Given the description of an element on the screen output the (x, y) to click on. 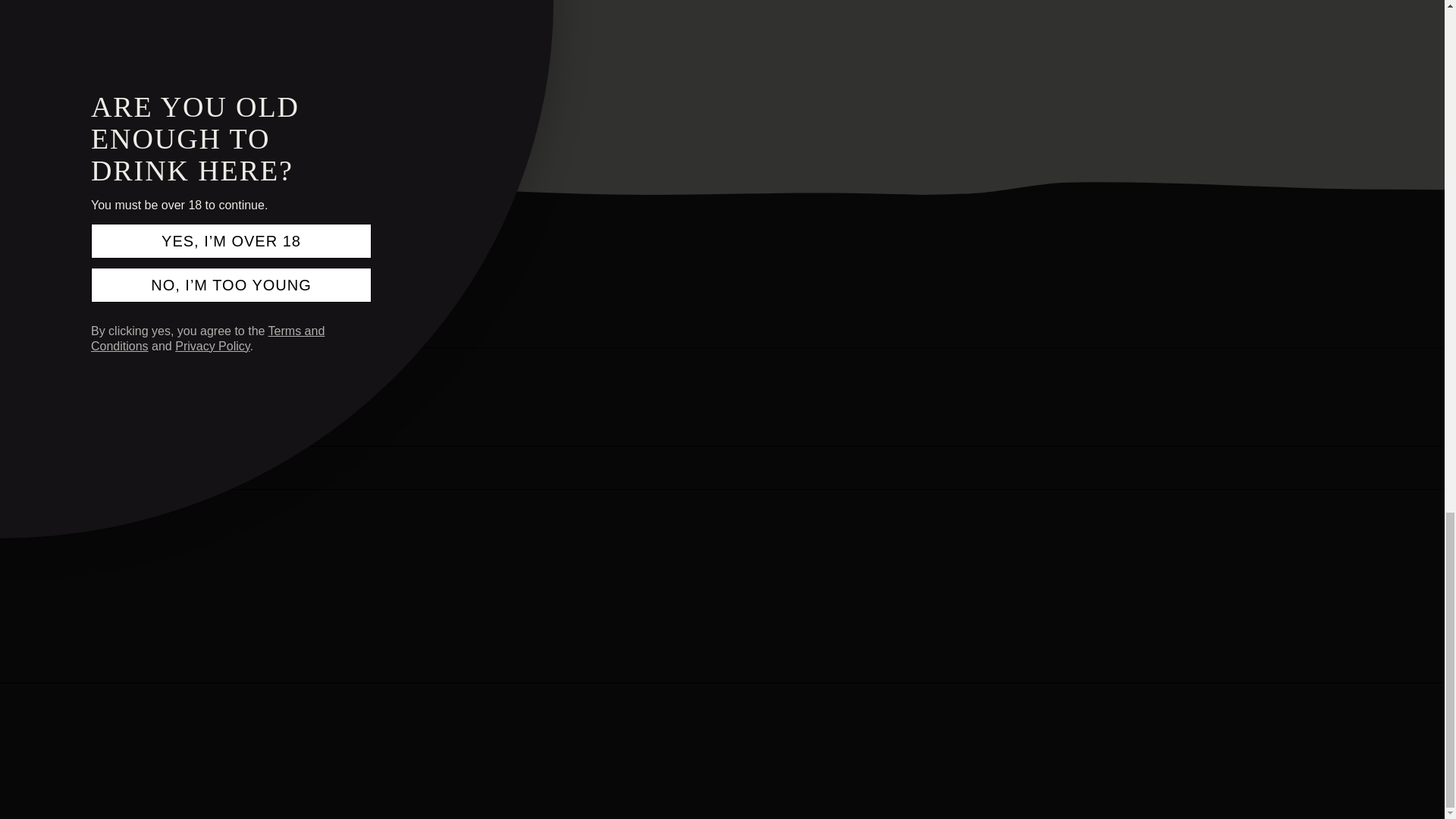
View Lizard Dragon Distillers on Facebook (56, 396)
View Lizard Dragon Distillers on Instagram (91, 396)
